Given the description of an element on the screen output the (x, y) to click on. 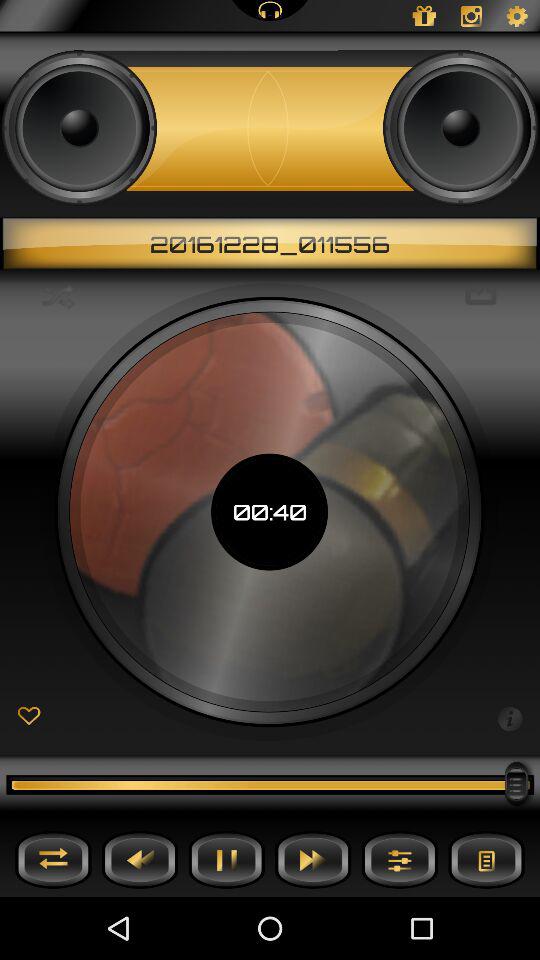
press the icon to the right of 00:40 (509, 717)
